Given the description of an element on the screen output the (x, y) to click on. 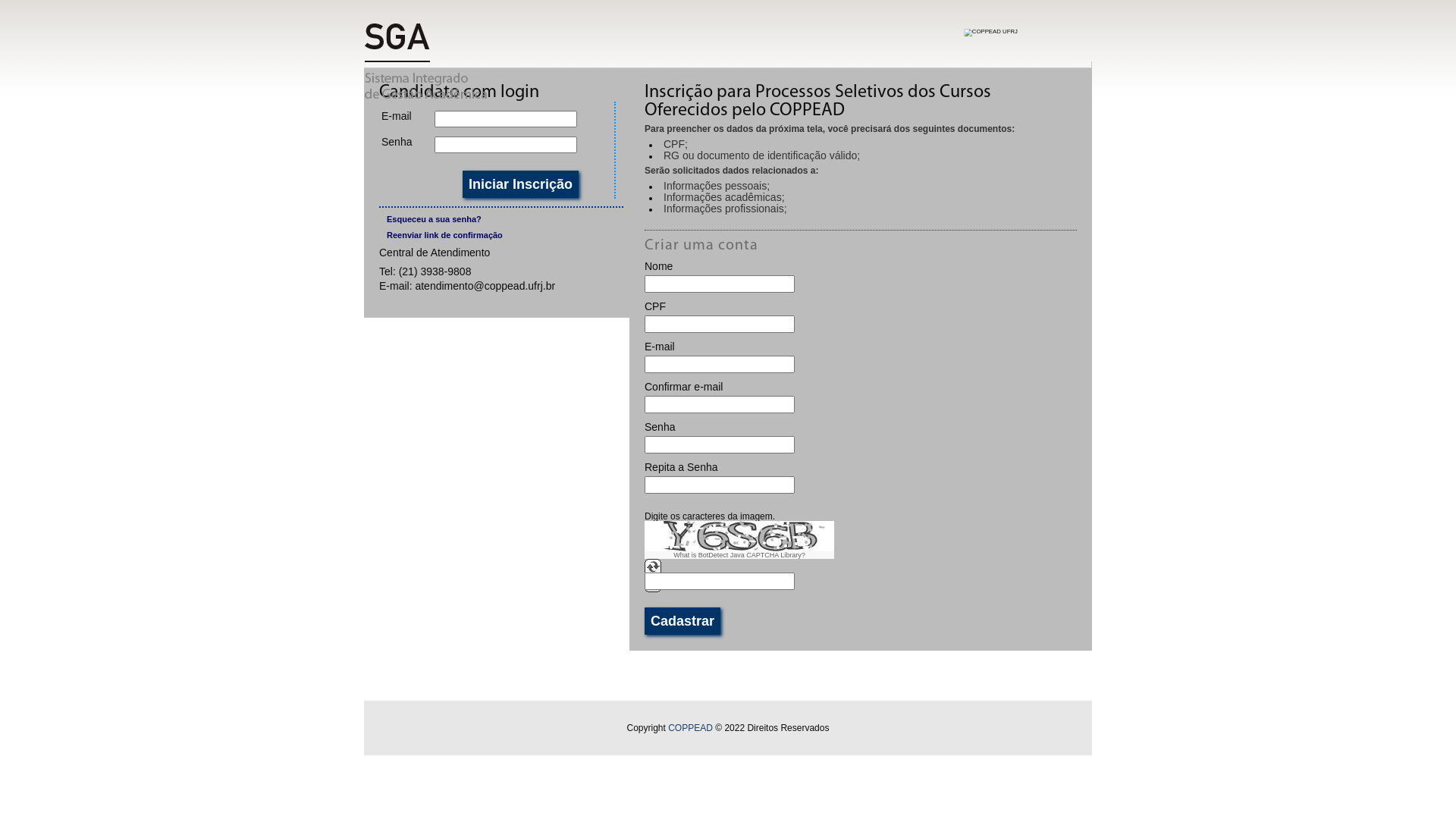
COPPEAD Element type: text (690, 727)
Speak the CAPTCHA code Element type: hover (652, 588)
What is BotDetect Java CAPTCHA Library? Element type: text (739, 554)
Change the CAPTCHA code Element type: hover (652, 566)
Esqueceu a sua senha? Element type: text (504, 219)
Cadastrar Element type: text (682, 620)
